Given the description of an element on the screen output the (x, y) to click on. 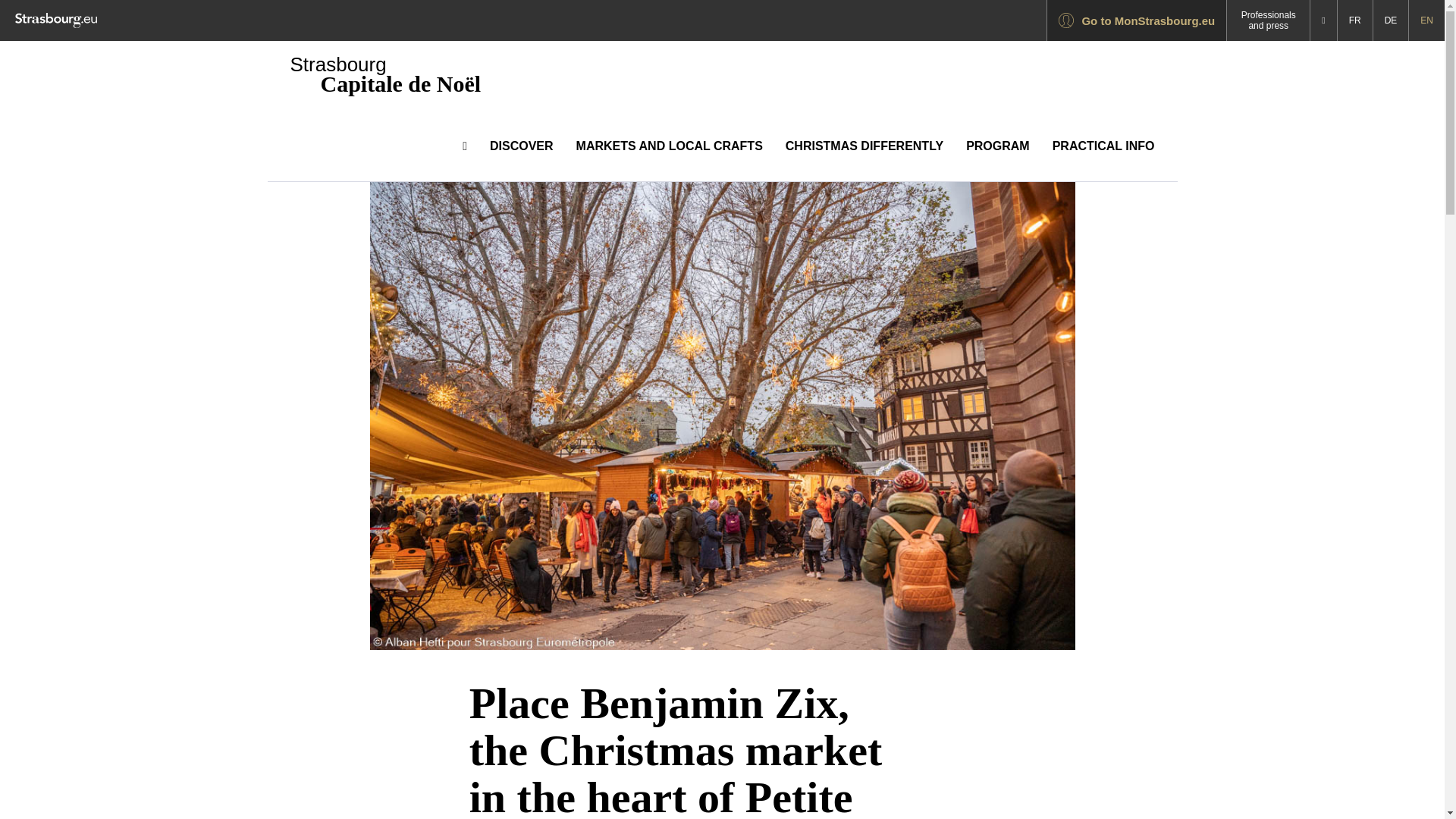
MARKETS AND LOCAL CRAFTS (669, 145)
CHRISTMAS DIFFERENTLY (864, 145)
Professionals and press (1266, 20)
Go to MonStrasbourg.eu (1135, 20)
PROGRAM (998, 145)
Go to MonStrasbourg.eu (1135, 20)
PRACTICAL INFO (1103, 145)
Skip to Main Content (3, 3)
DISCOVER (521, 145)
